Given the description of an element on the screen output the (x, y) to click on. 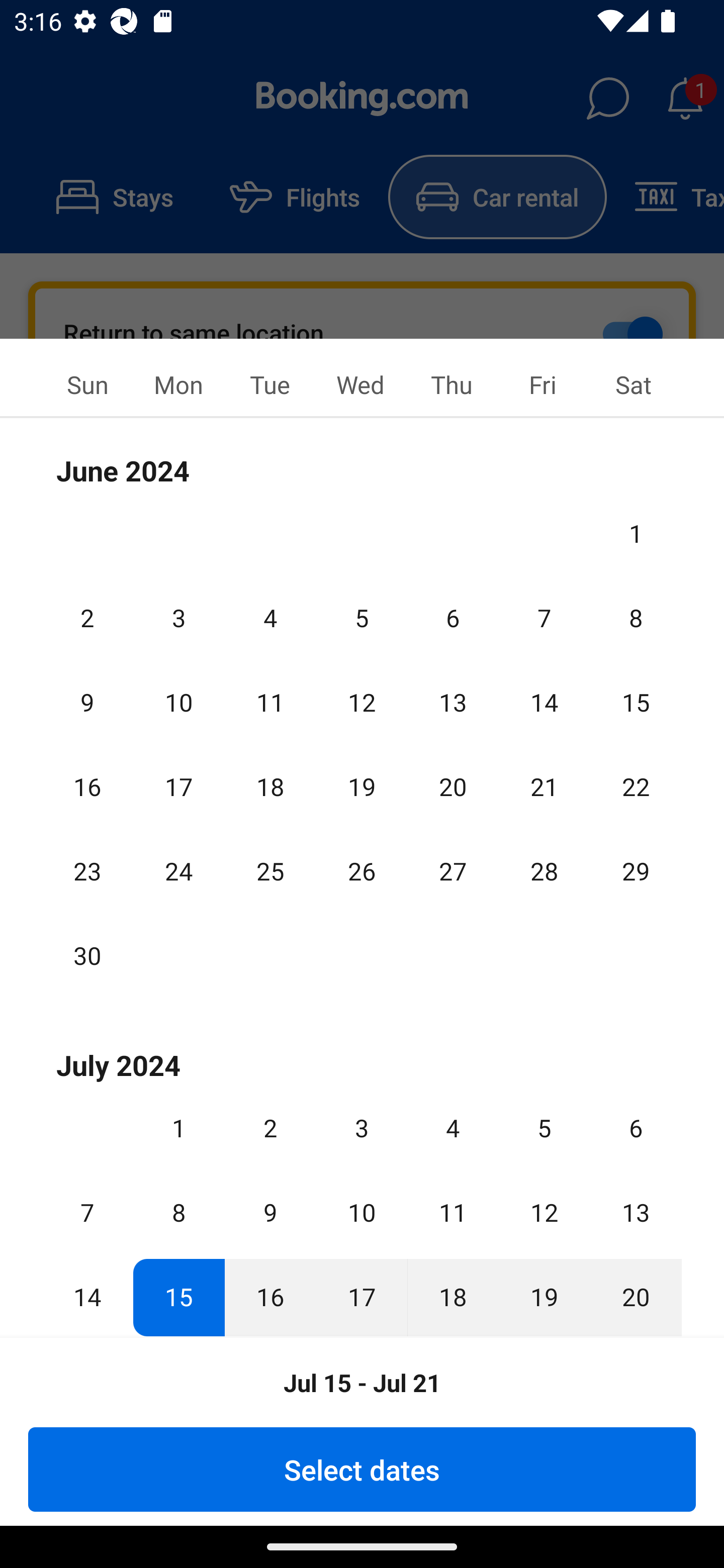
Select dates (361, 1468)
